Given the description of an element on the screen output the (x, y) to click on. 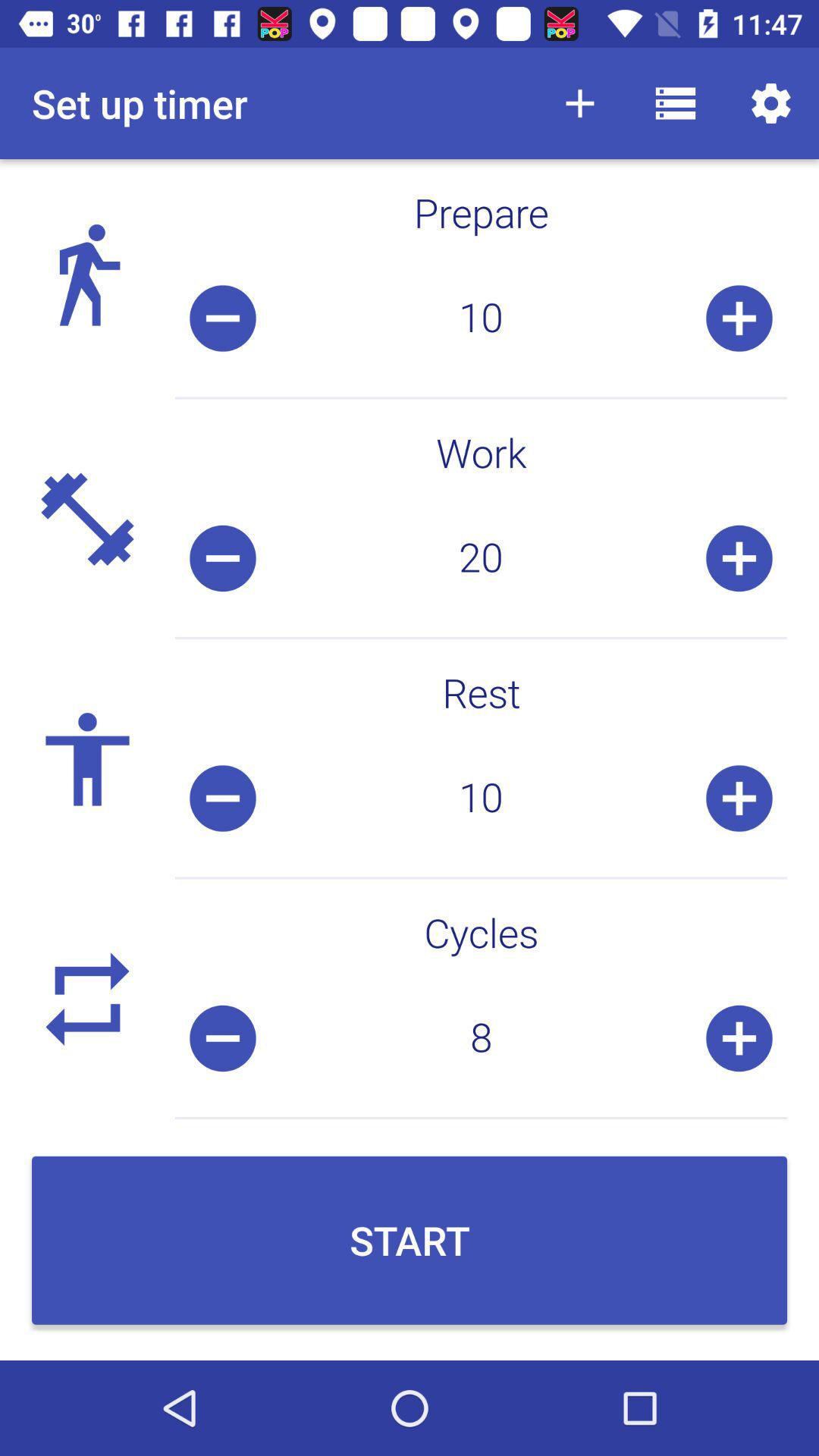
turn off the item above the prepare item (579, 103)
